Given the description of an element on the screen output the (x, y) to click on. 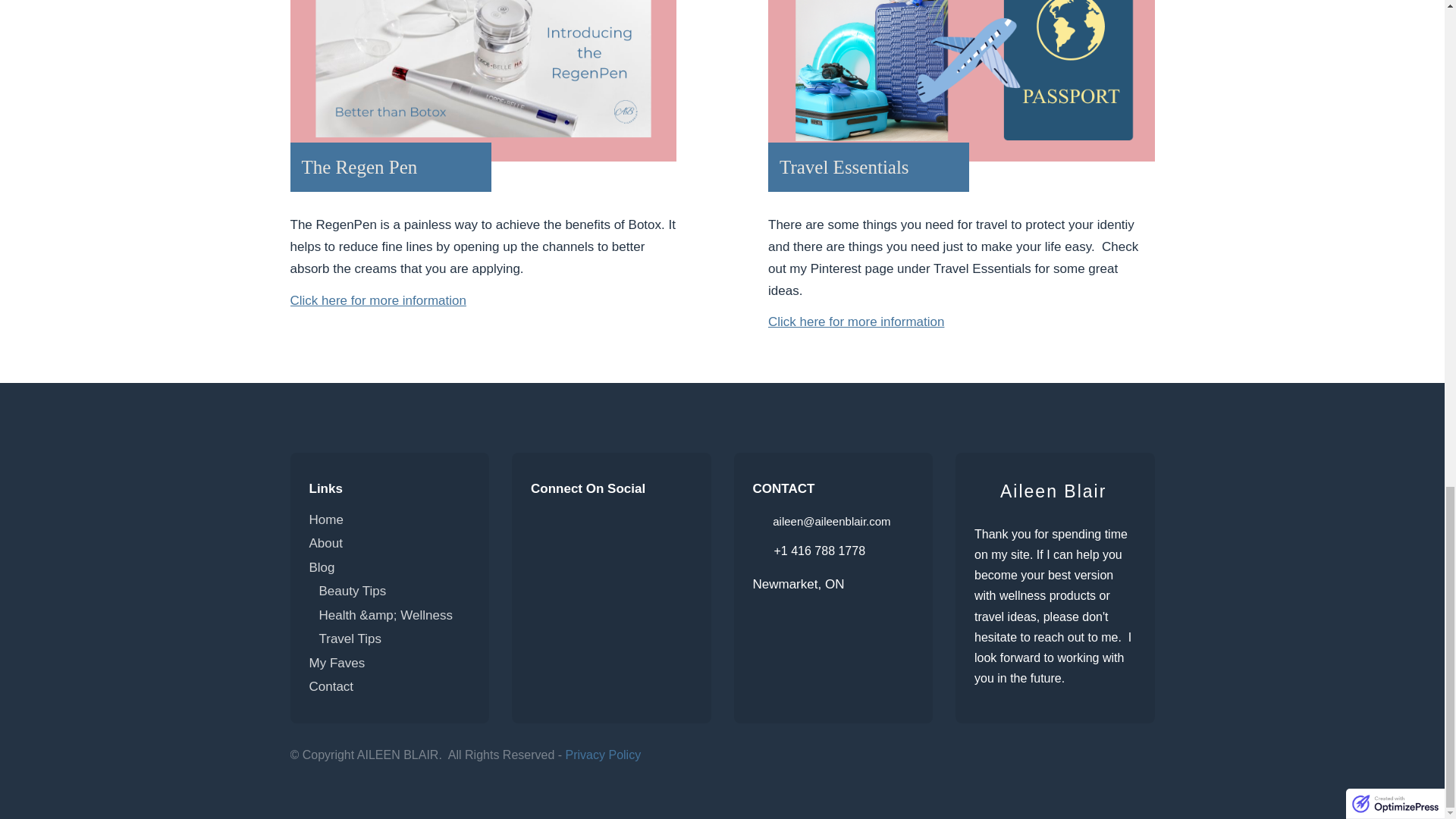
Blog (321, 567)
Click here for more information (377, 300)
Beauty Tips (351, 590)
Travel Essentials (961, 81)
Home (325, 519)
Travel Tips (349, 638)
Privacy Policy (604, 754)
The RegenPen (483, 81)
Click here for more information (855, 321)
My Faves (336, 663)
Contact (330, 686)
About (325, 543)
